Given the description of an element on the screen output the (x, y) to click on. 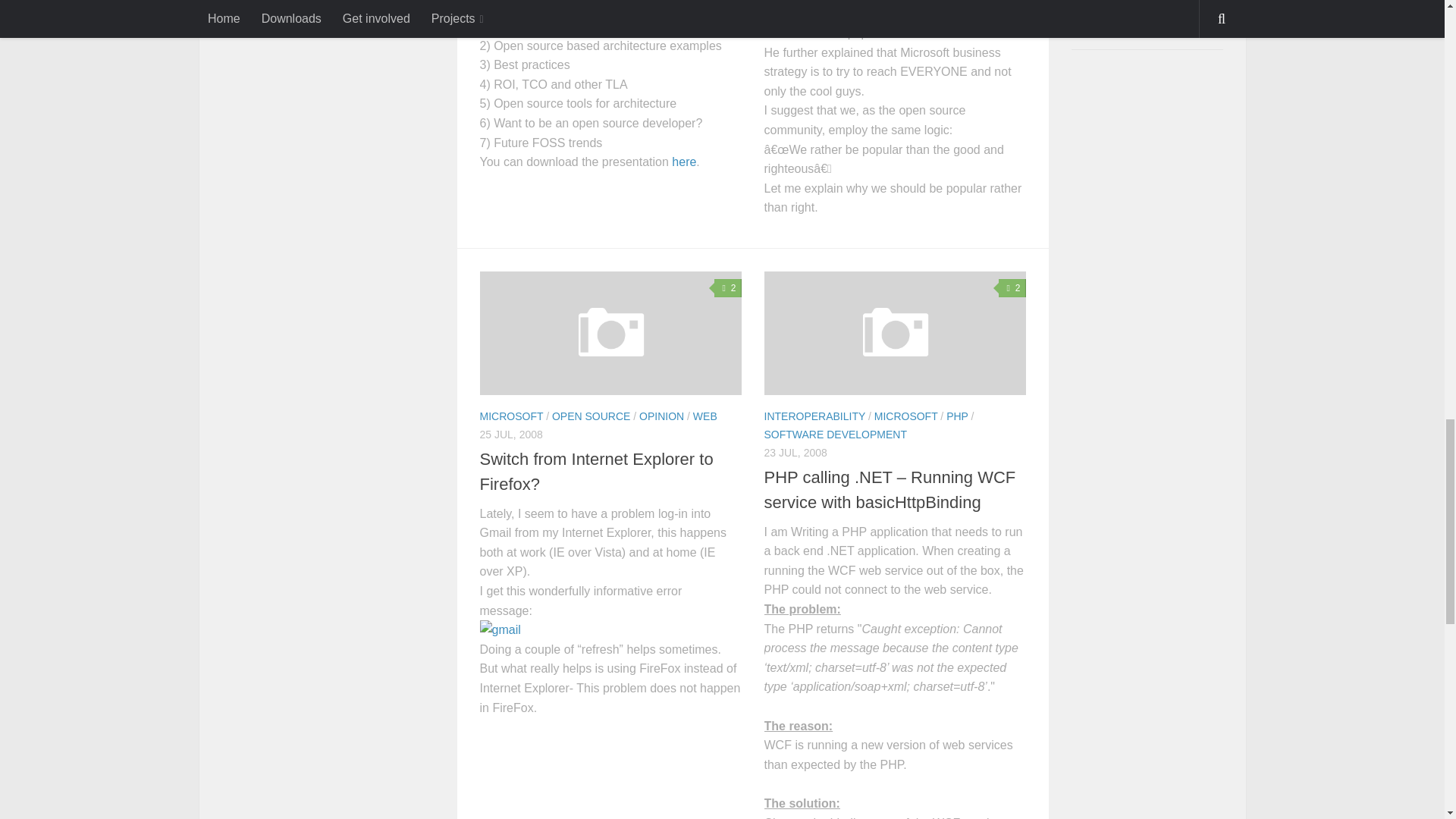
Switch from Internet Explorer to Firefox? (610, 332)
gmail (499, 629)
Switch from Internet Explorer to Firefox? (596, 471)
